Given the description of an element on the screen output the (x, y) to click on. 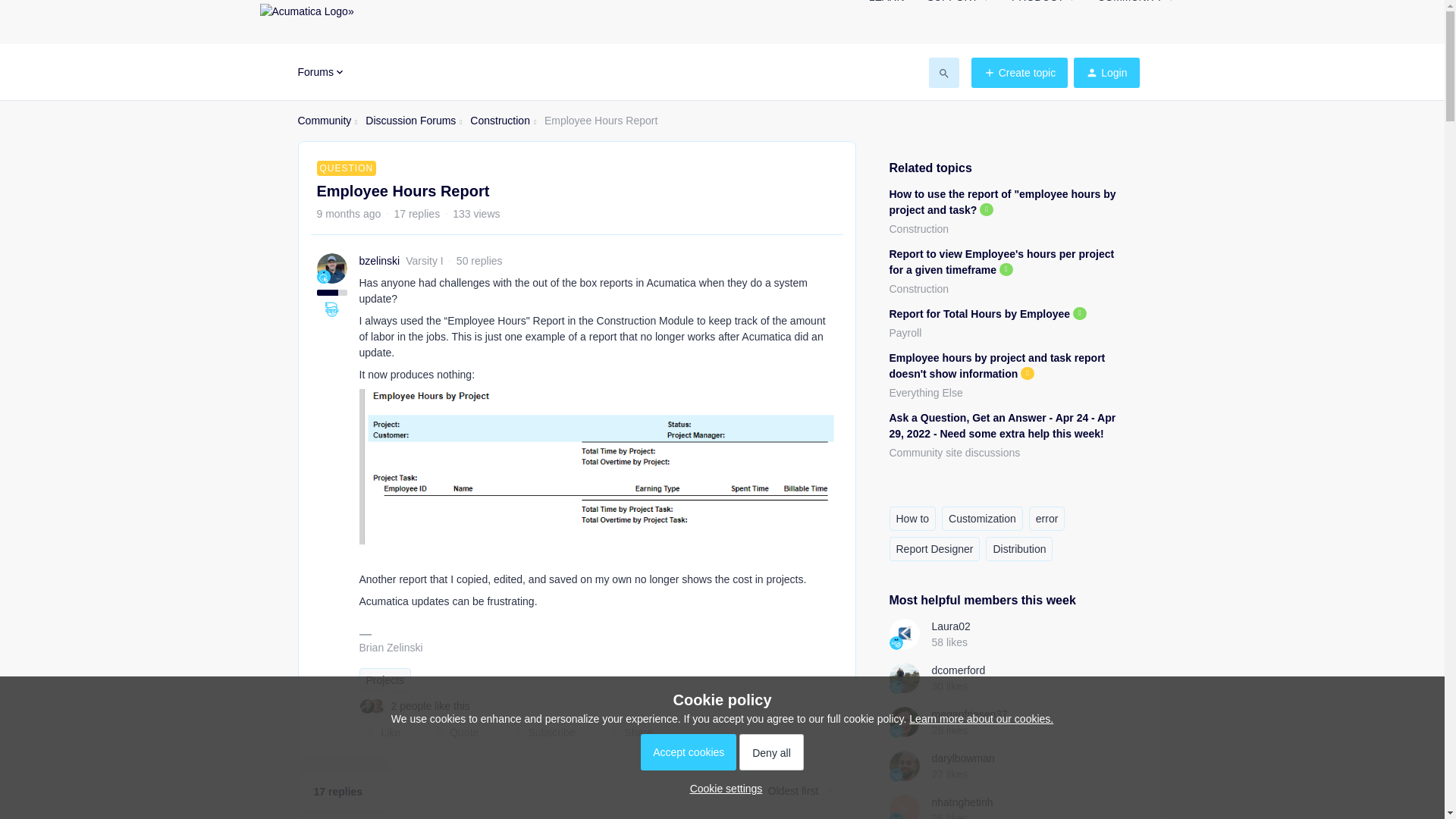
PRODUCT (1042, 6)
LEARN (886, 6)
COMMUNITY (1135, 6)
SUPPORT (957, 6)
Forums (321, 71)
